Given the description of an element on the screen output the (x, y) to click on. 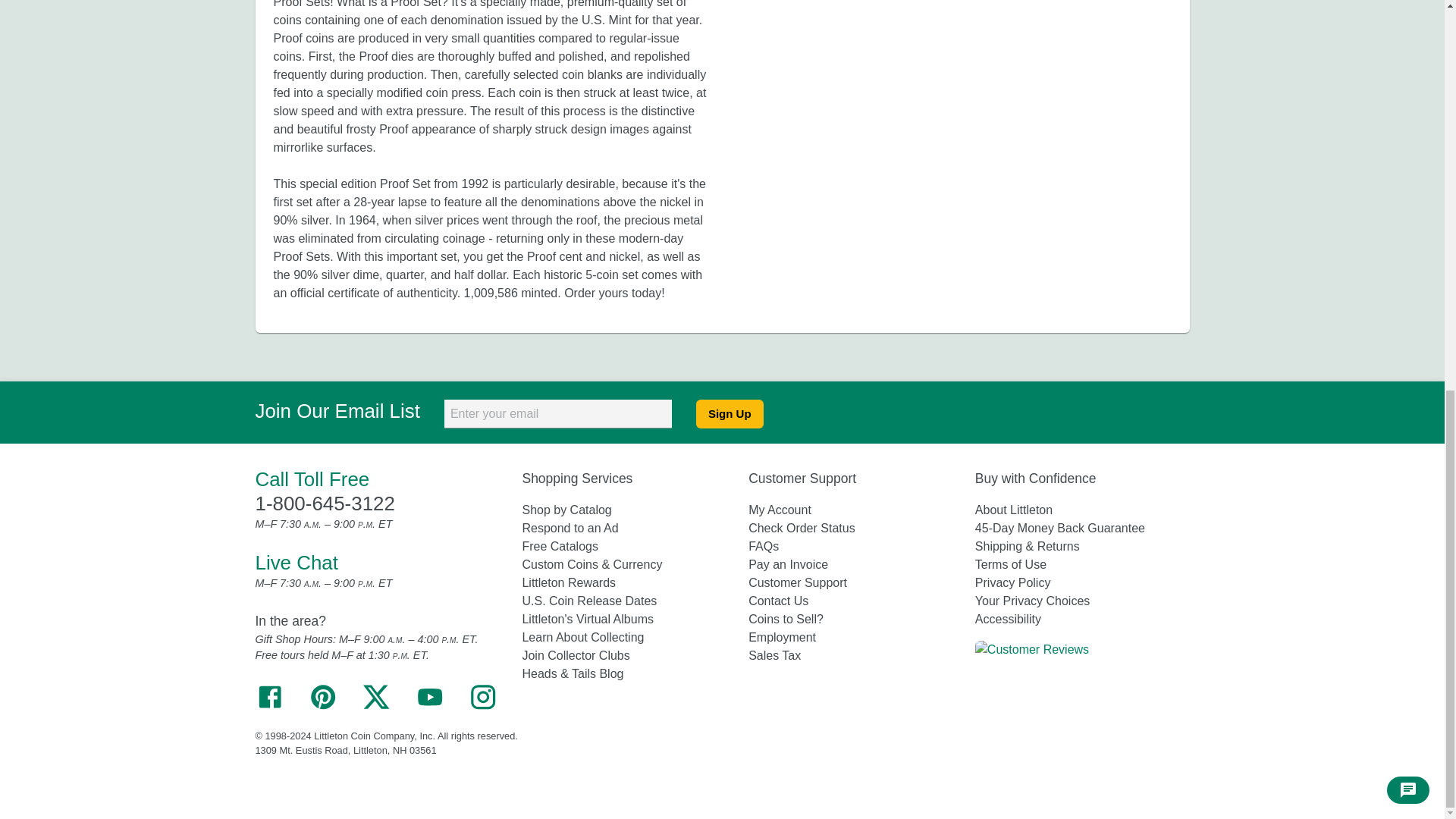
Littleton Coin Company on Facebook (268, 707)
Littleton Coin Company on Twitter (375, 707)
Littleton Coin Company on Pinterest (322, 707)
Littleton Coin Company on Instagram (482, 707)
Sign Up (728, 413)
Live Chat (295, 562)
1-800-645-3122 (324, 503)
Littleton Coin Company on YouTube (429, 707)
Enter your email (557, 413)
